Given the description of an element on the screen output the (x, y) to click on. 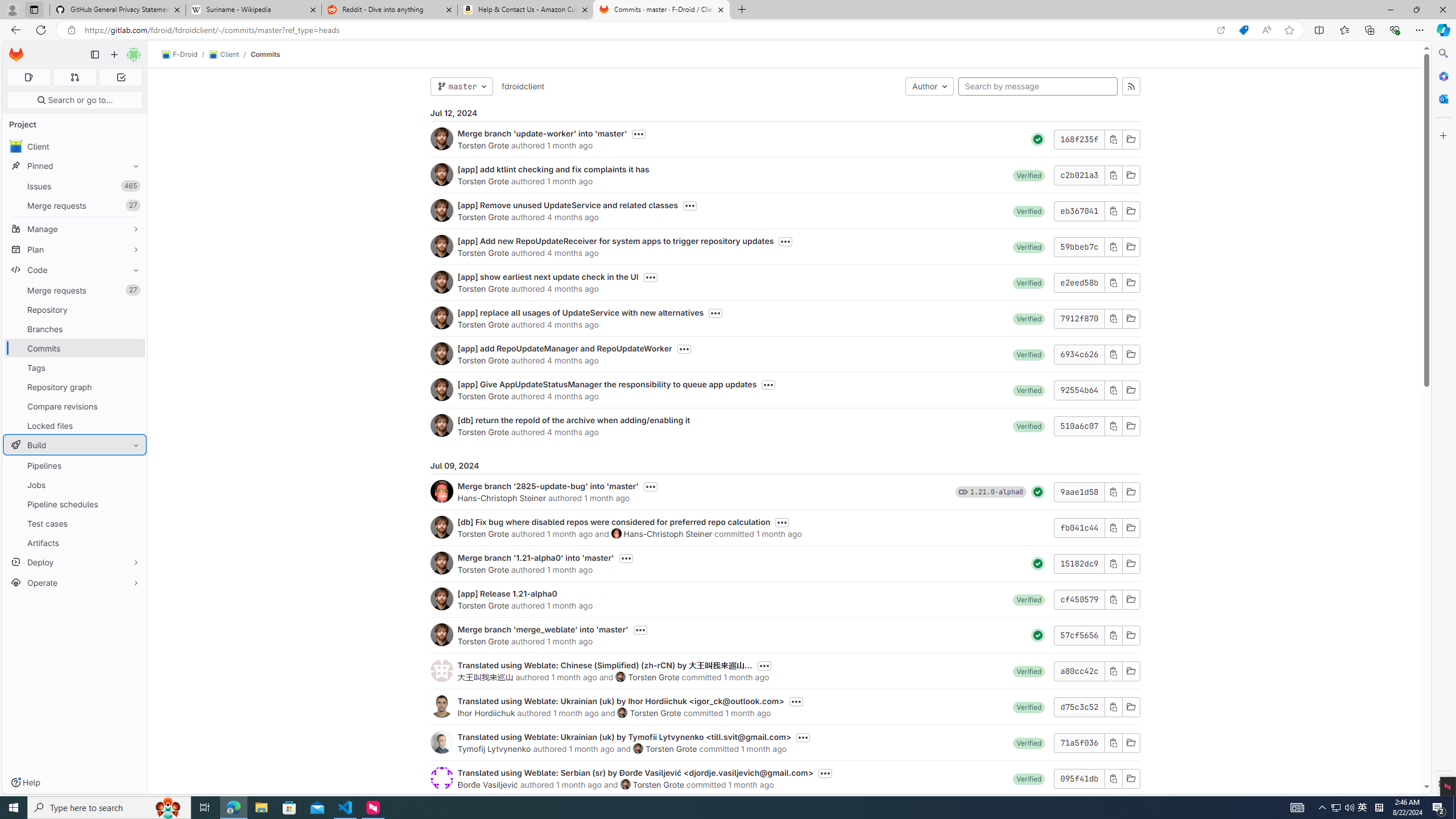
Tags (74, 367)
Client/ (229, 54)
[app] show earliest next update check in the UI (548, 276)
Torsten Grote (657, 784)
Pipeline schedules (74, 503)
Toggle commit description (825, 773)
Pin Jobs (132, 484)
Operate (74, 582)
Merge requests 0 (74, 76)
Copy commit SHA (1112, 778)
Merge requests27 (74, 289)
